Given the description of an element on the screen output the (x, y) to click on. 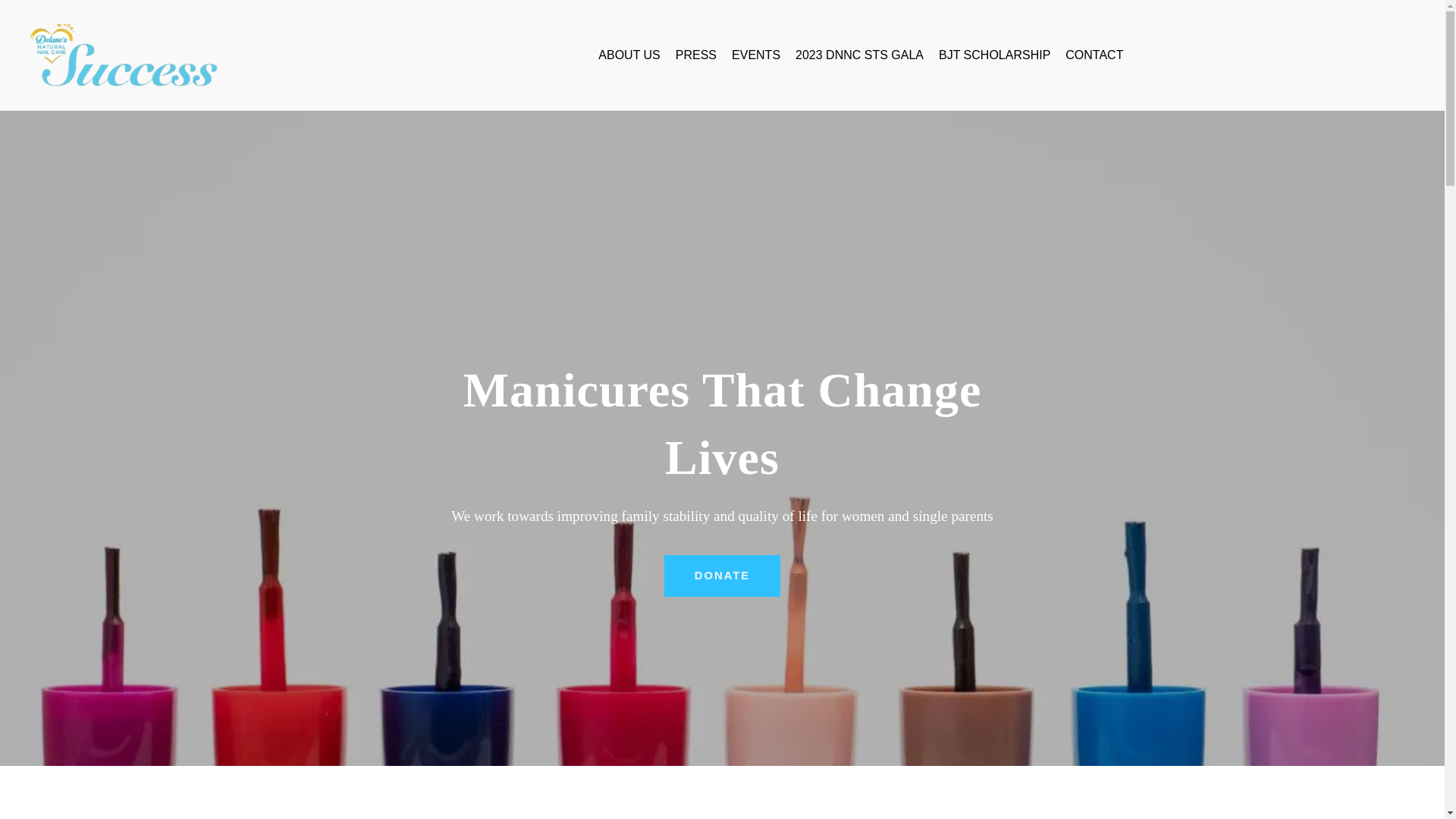
DONATE (721, 576)
EVENTS (756, 55)
ABOUT US (629, 55)
PRESS (695, 55)
2023 DNNC STS GALA (858, 55)
BJT SCHOLARSHIP (994, 55)
CONTACT (1093, 55)
